Given the description of an element on the screen output the (x, y) to click on. 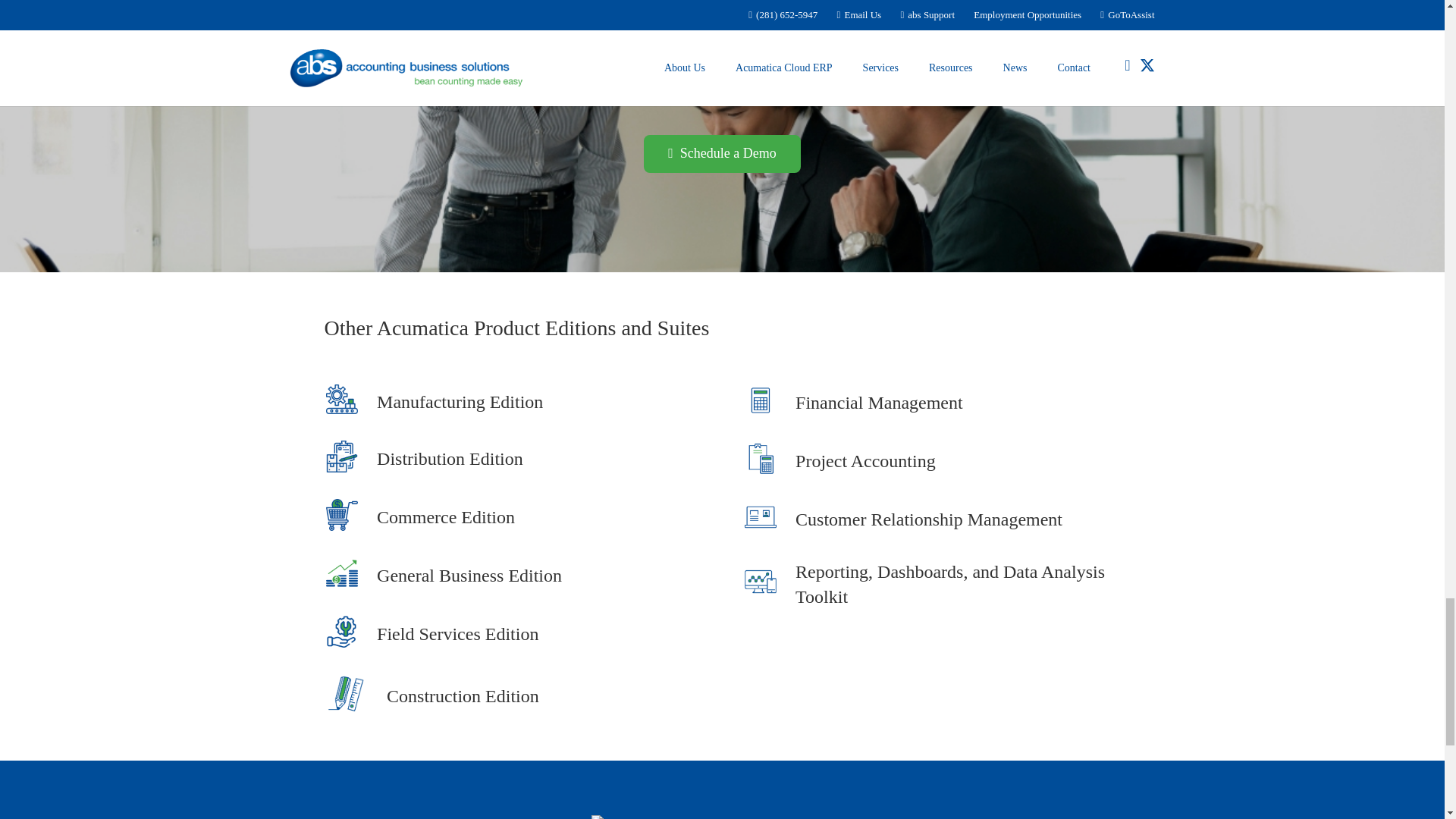
Acumatica Cloud ERP: Commerce Edition (446, 517)
Contact Us (721, 153)
Acumatica Cloud ERP: General Business Edition (469, 575)
Acumatica Cloud ERP: General Business Edition (350, 576)
Acumatica Cloud ERP: Commerce Edition (350, 517)
Acumatica Cloud ERP: Distribution Edition (350, 459)
Acumatica Cloud ERP: Manufacturing Edition (350, 402)
Acumatica Cloud ERP: Field Service Edition (350, 634)
Acumatica Cloud ERP: Distribution Edition (449, 459)
Acumatica Cloud ERP: Manufacturing Edition (460, 402)
